Given the description of an element on the screen output the (x, y) to click on. 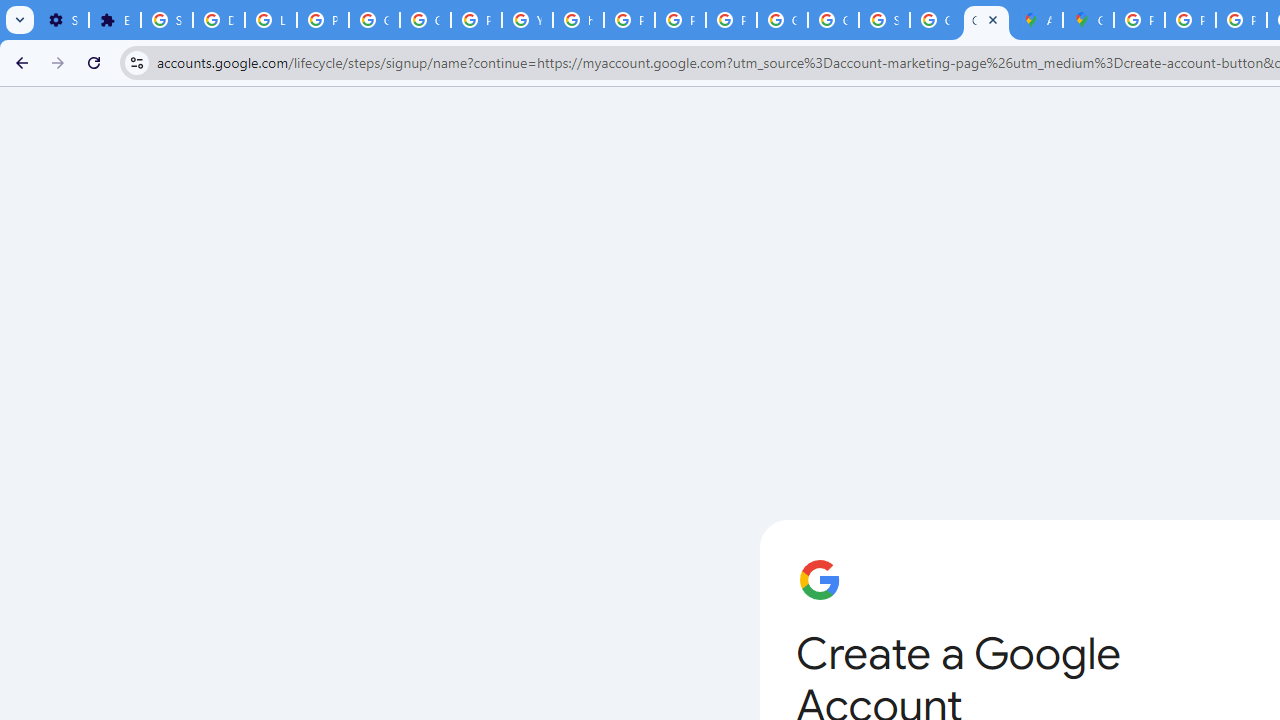
Sign in - Google Accounts (166, 20)
